Given the description of an element on the screen output the (x, y) to click on. 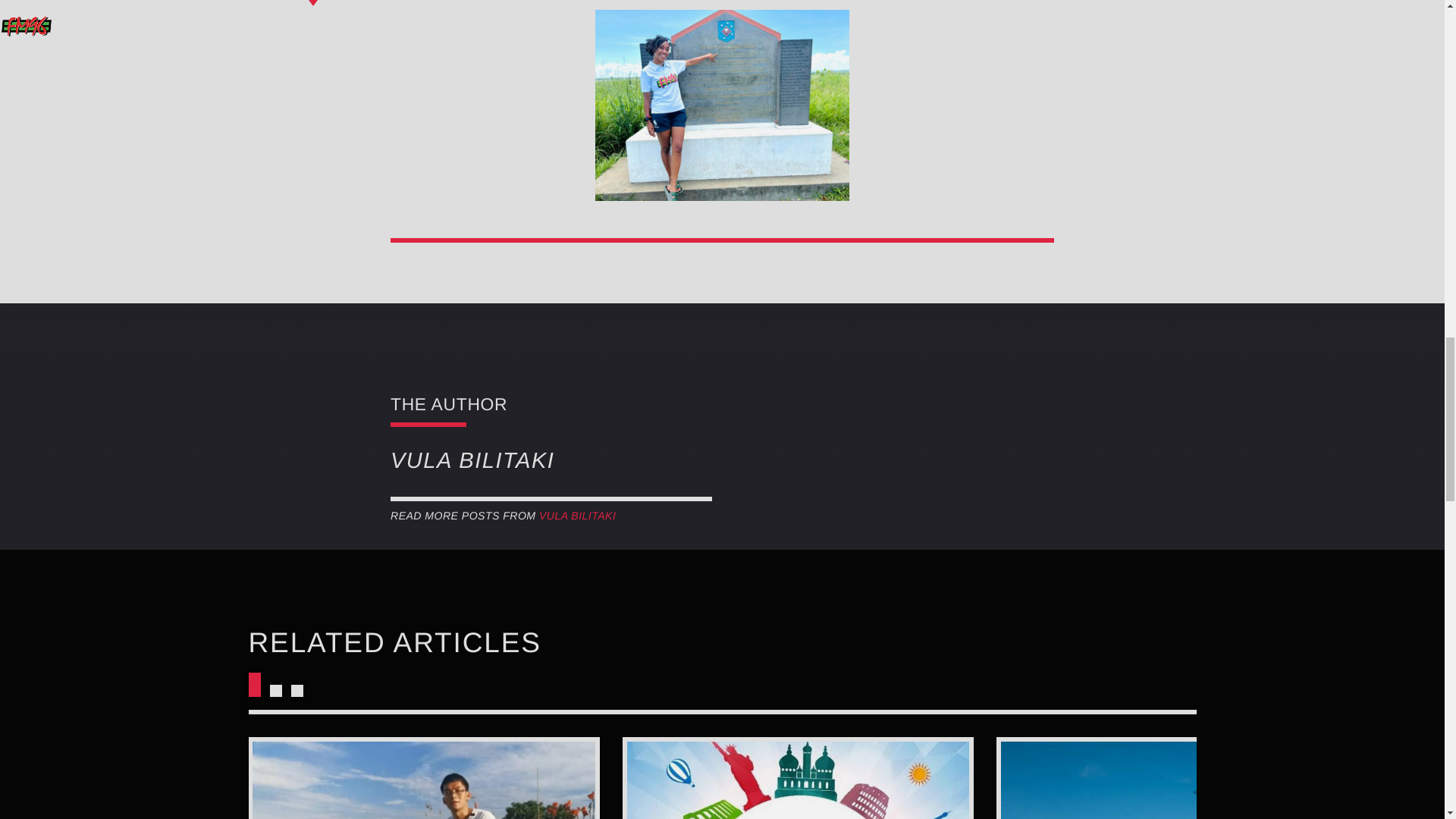
VULA BILITAKI (576, 515)
Posts by Vula Bilitaki (576, 515)
